Given the description of an element on the screen output the (x, y) to click on. 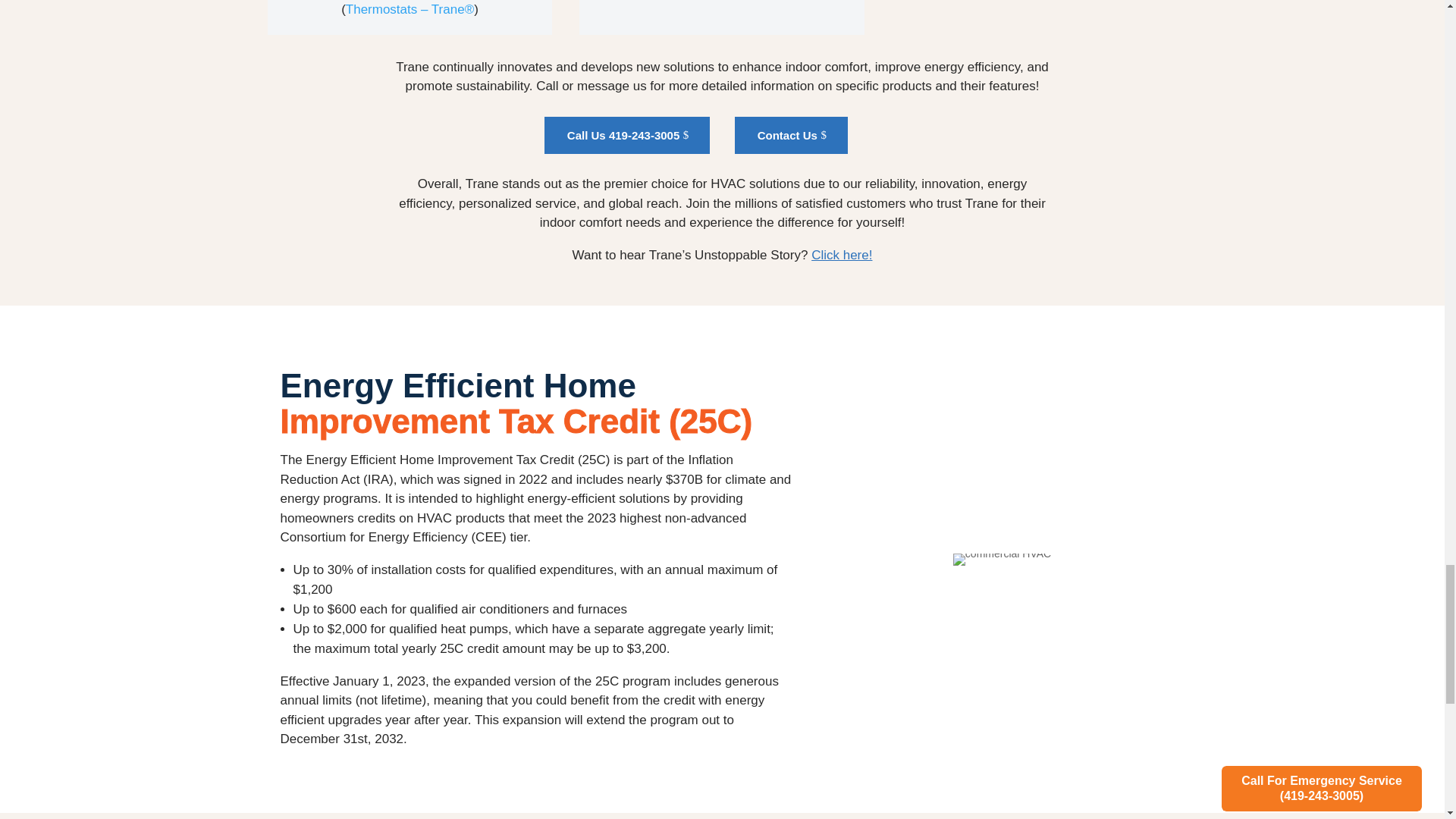
EnergyEfficientHomeImprovementTaxCredit-imgs (1002, 559)
